Given the description of an element on the screen output the (x, y) to click on. 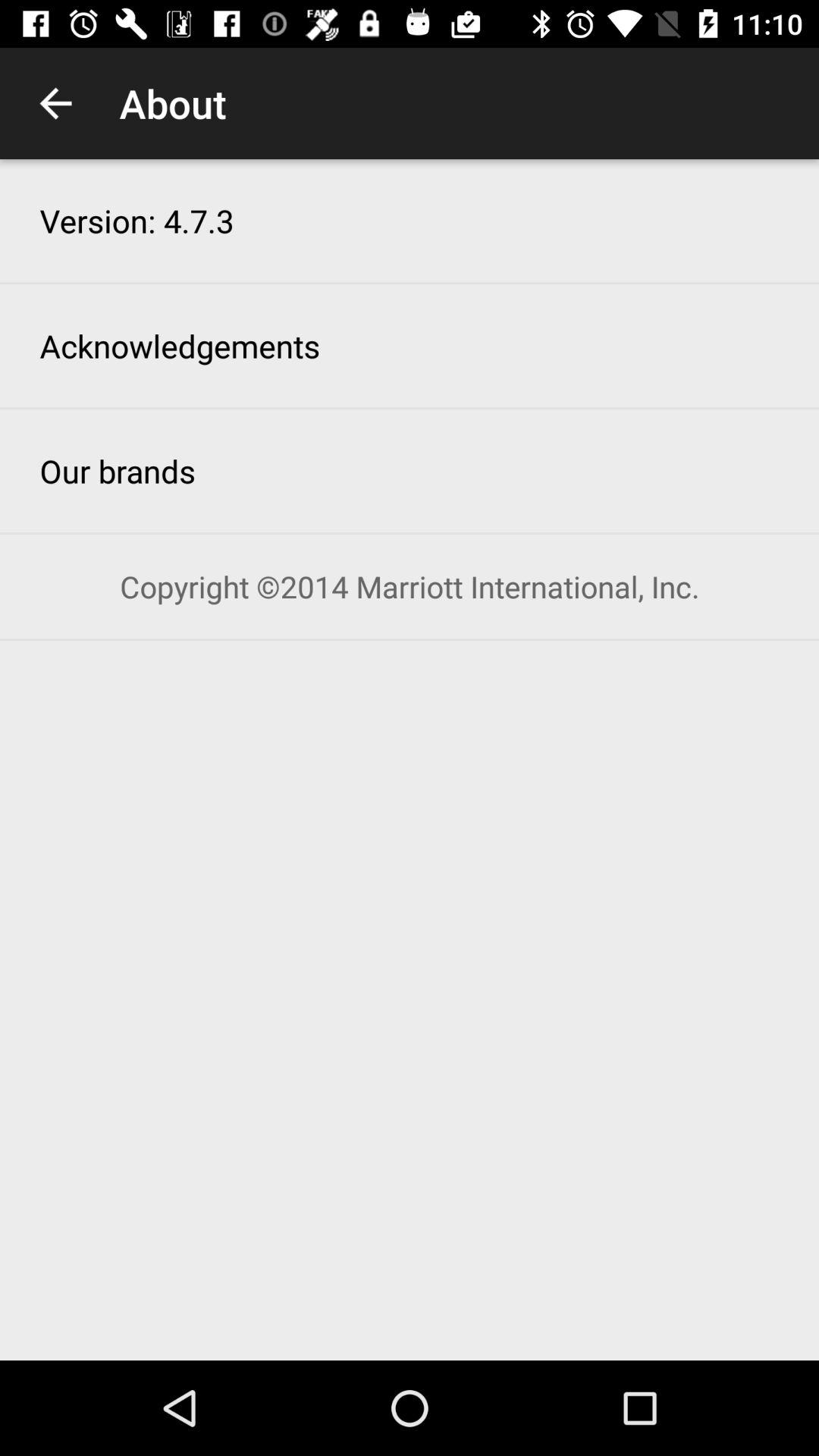
select the icon to the left of the about item (55, 103)
